Given the description of an element on the screen output the (x, y) to click on. 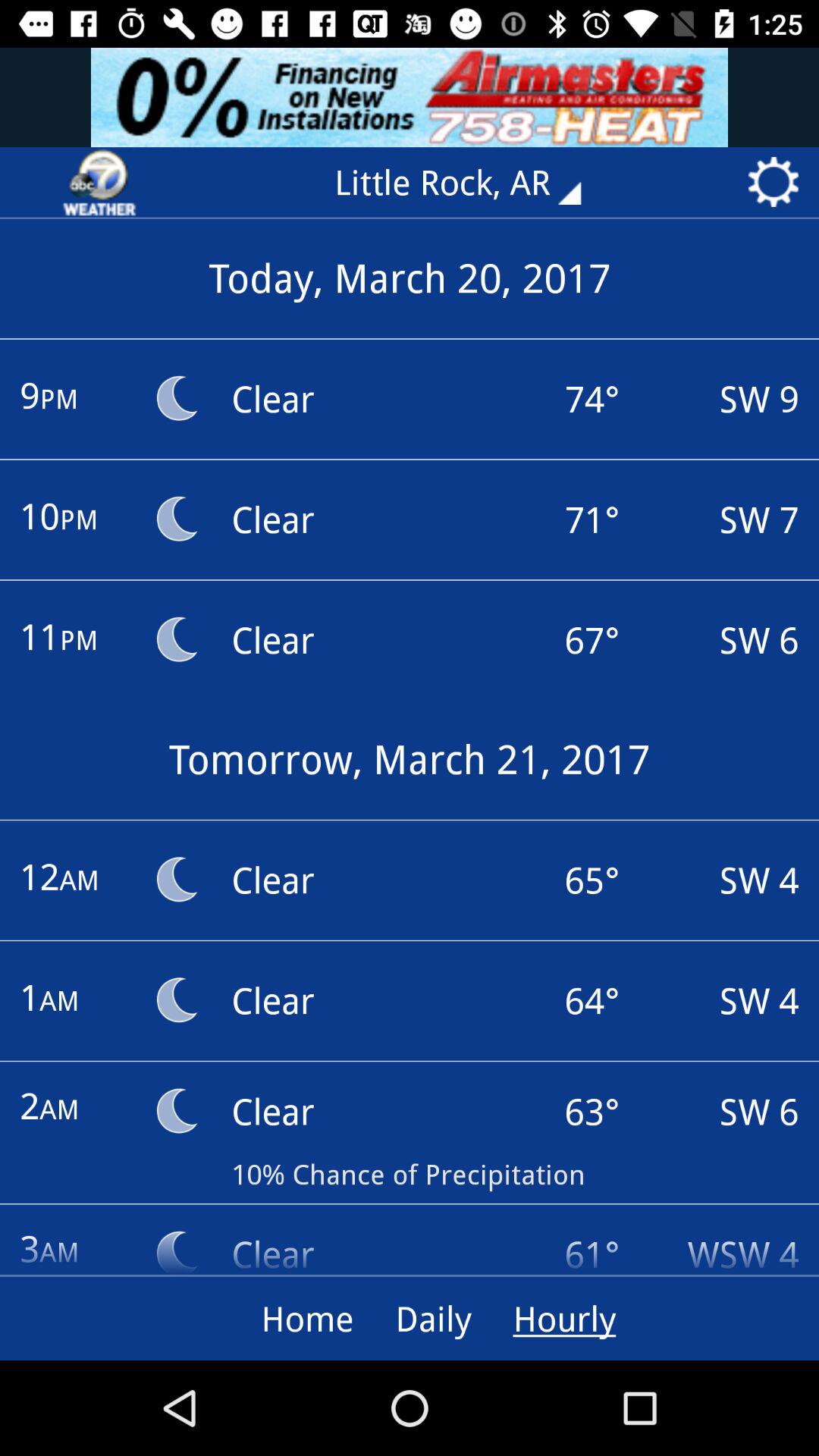
go to webpage (99, 182)
